Given the description of an element on the screen output the (x, y) to click on. 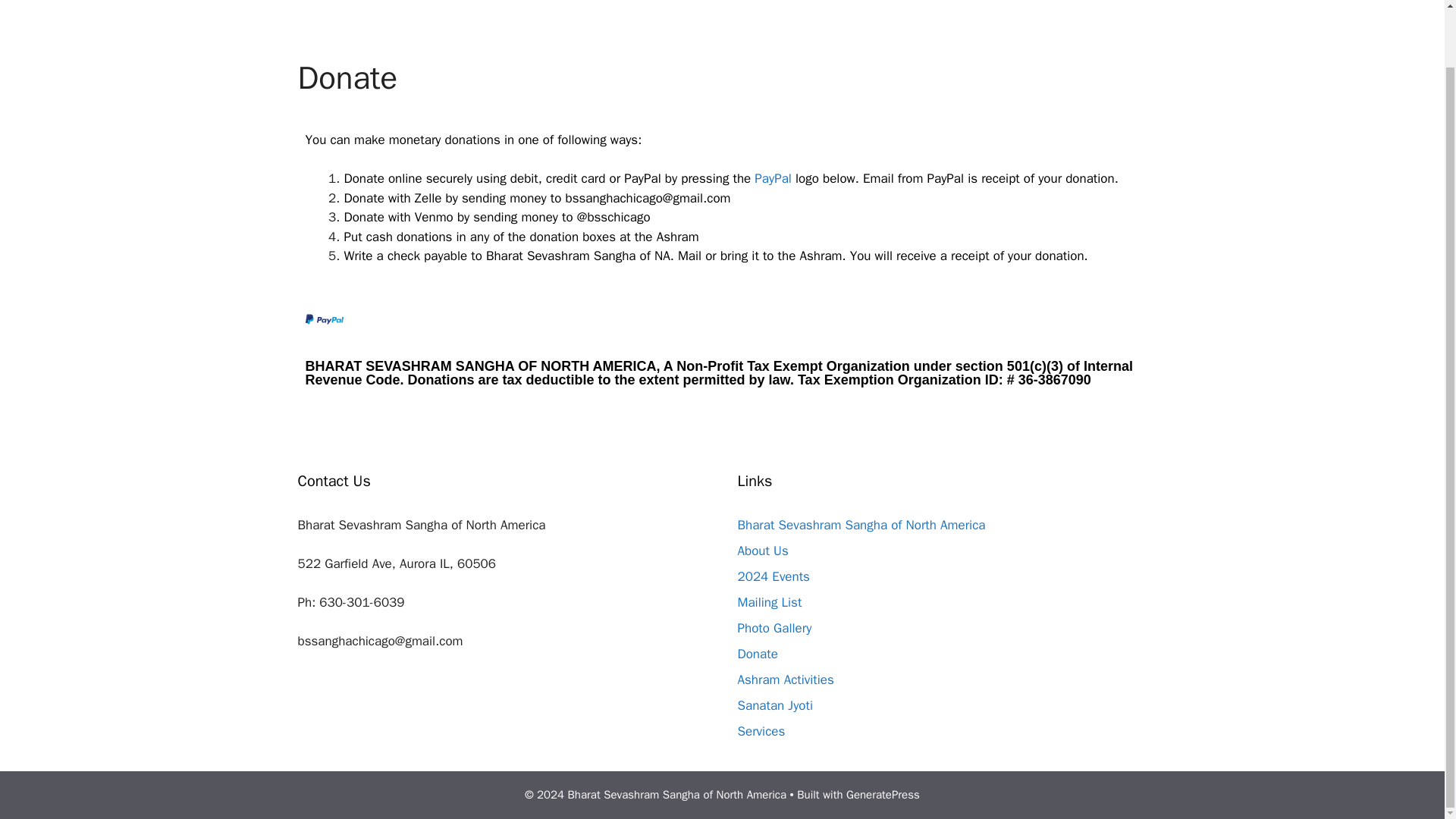
Photo Gallery (773, 627)
2024 Events (772, 576)
About Us (761, 550)
Sanatan Jyoti (774, 705)
Bharat Sevashram Sangha of North America (860, 524)
PayPal (773, 178)
Mailing List (769, 602)
Ashram Activities (784, 679)
Donate (756, 653)
Services (760, 731)
GeneratePress (882, 794)
